Given the description of an element on the screen output the (x, y) to click on. 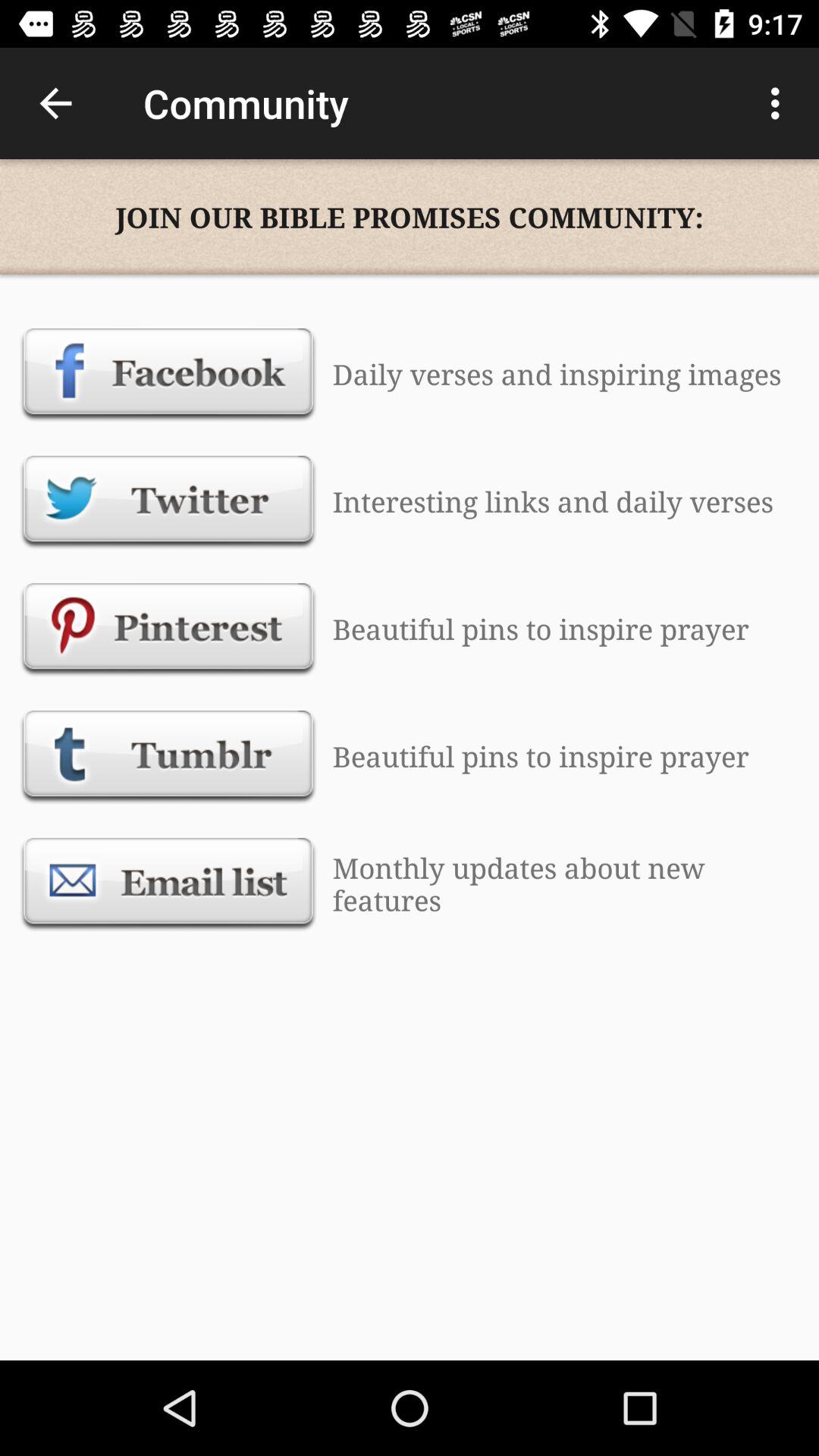
facebook (167, 374)
